Given the description of an element on the screen output the (x, y) to click on. 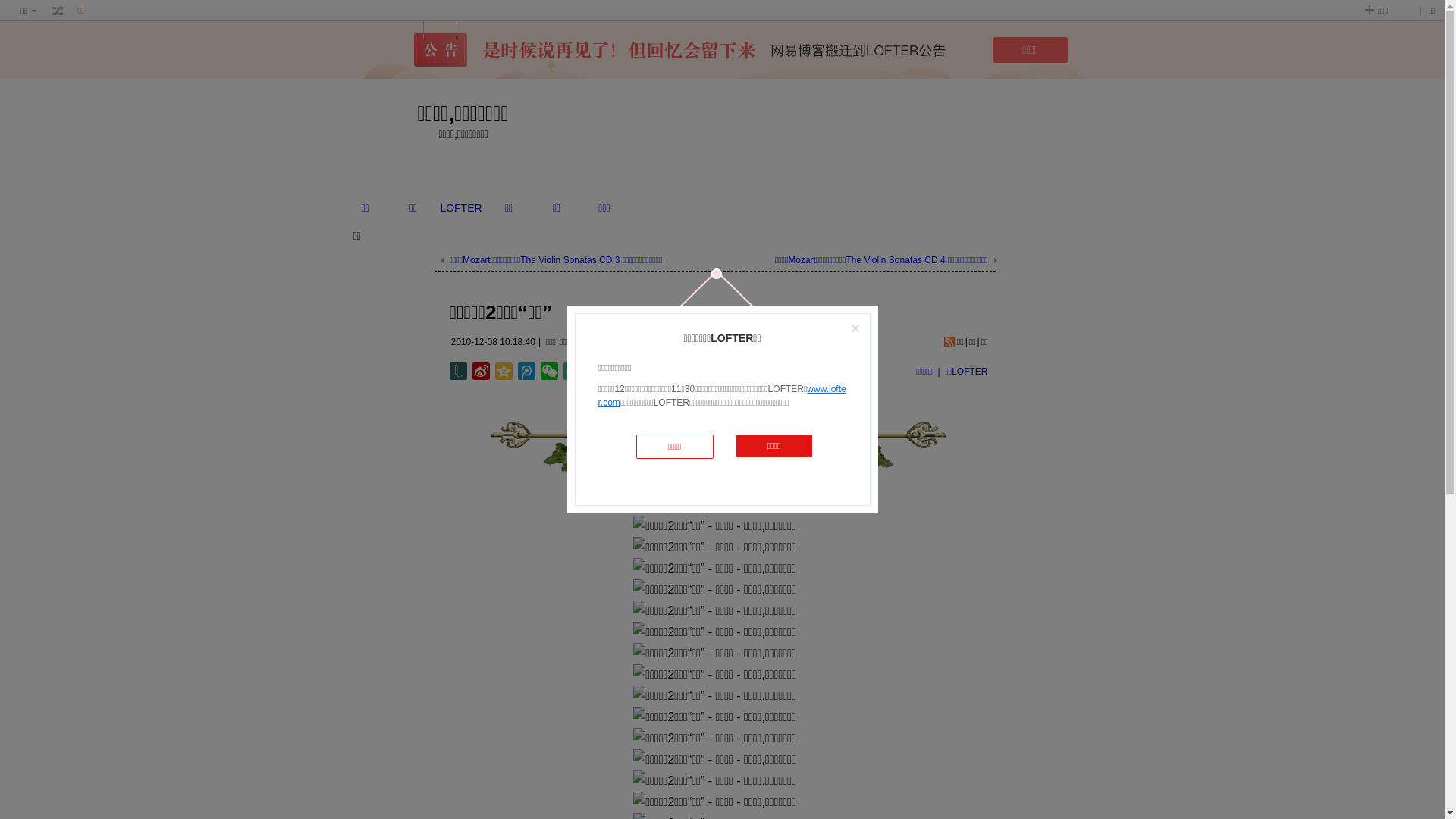
www.lofter.com Element type: text (721, 395)
  Element type: text (58, 10)
LOFTER Element type: text (460, 207)
